Given the description of an element on the screen output the (x, y) to click on. 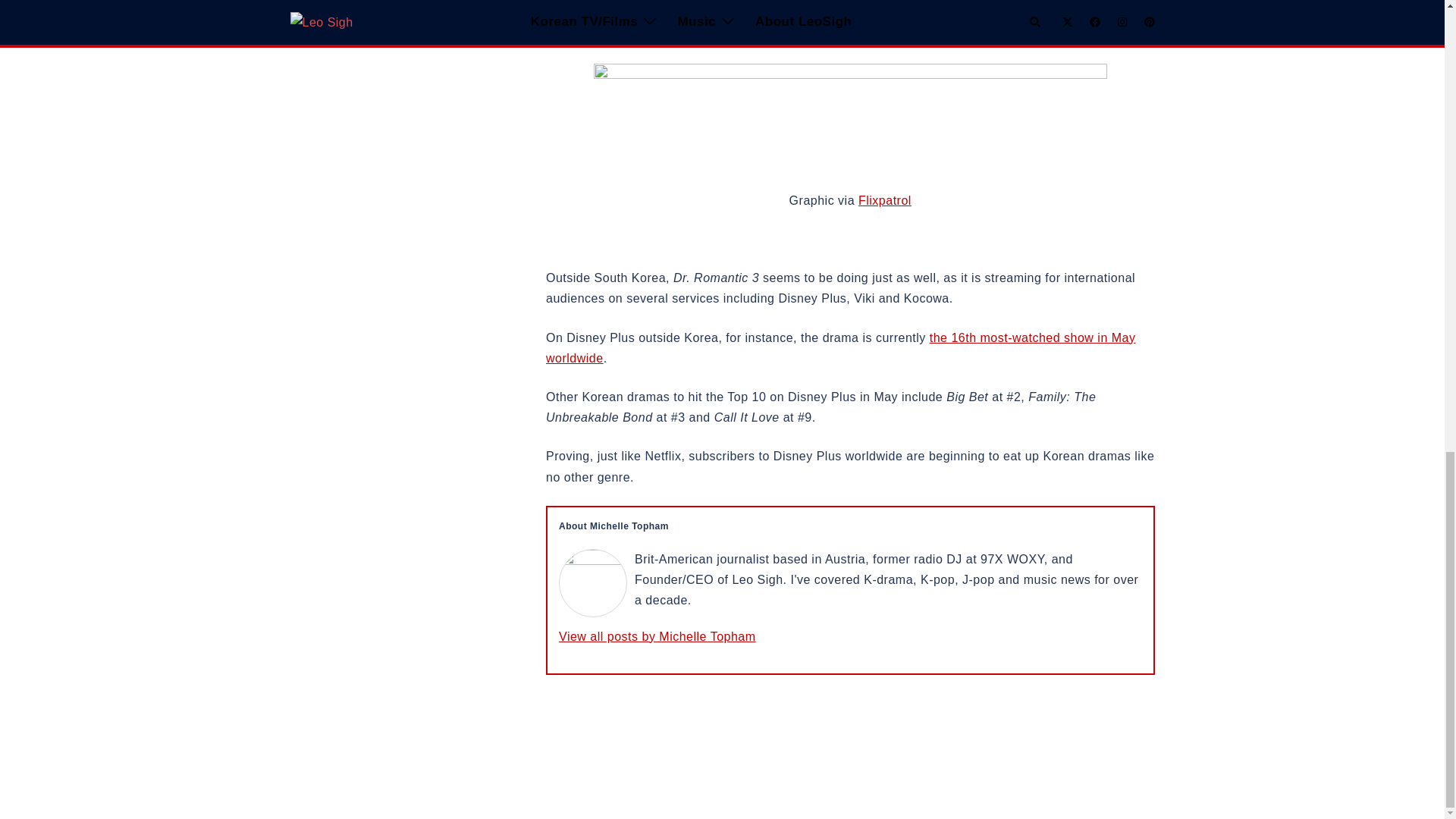
the 16th most-watched show in May worldwide (840, 347)
Flixpatrol (885, 200)
View all posts by Michelle Topham (657, 635)
